Given the description of an element on the screen output the (x, y) to click on. 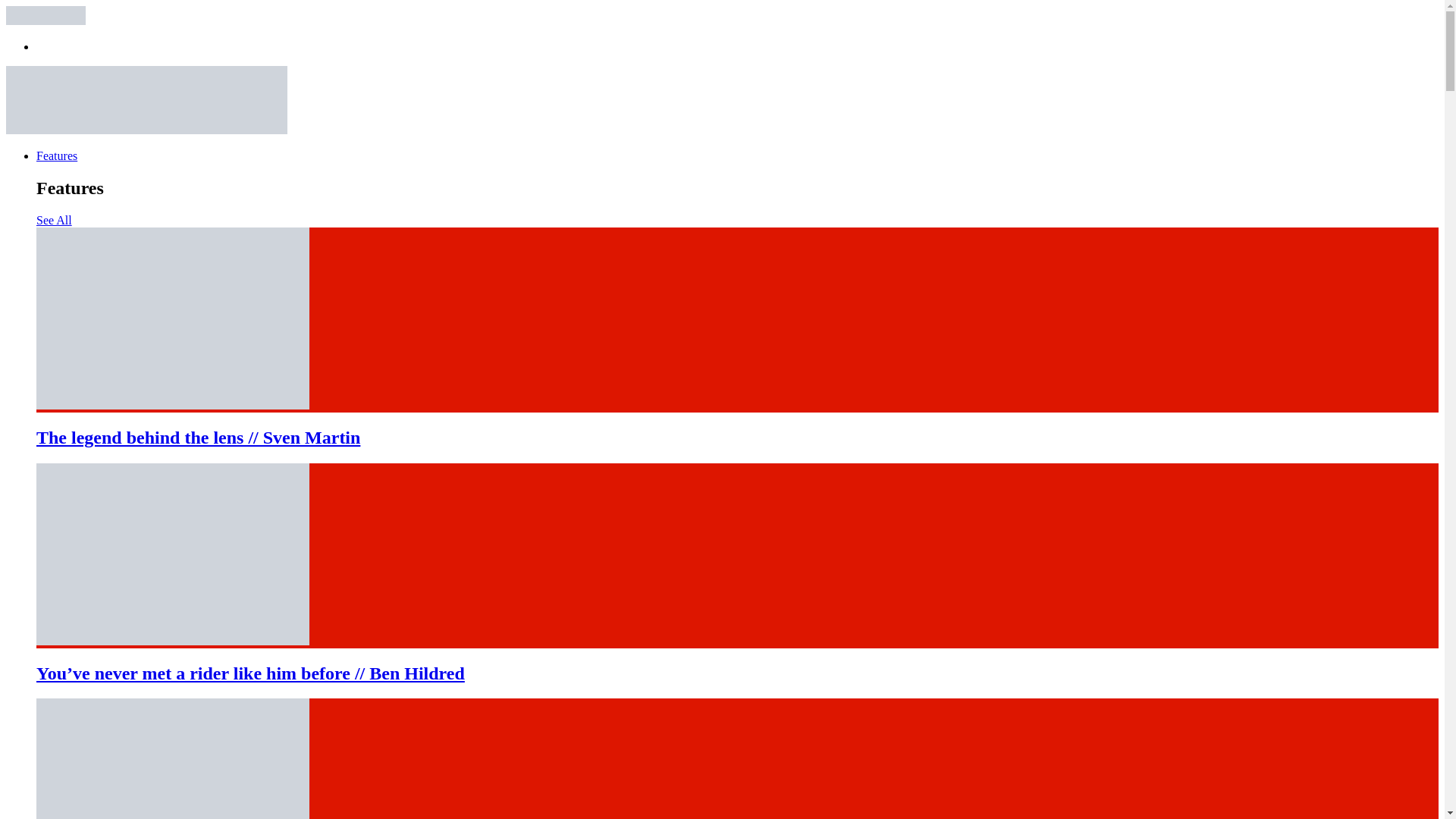
Features (56, 155)
See All (53, 219)
